Given the description of an element on the screen output the (x, y) to click on. 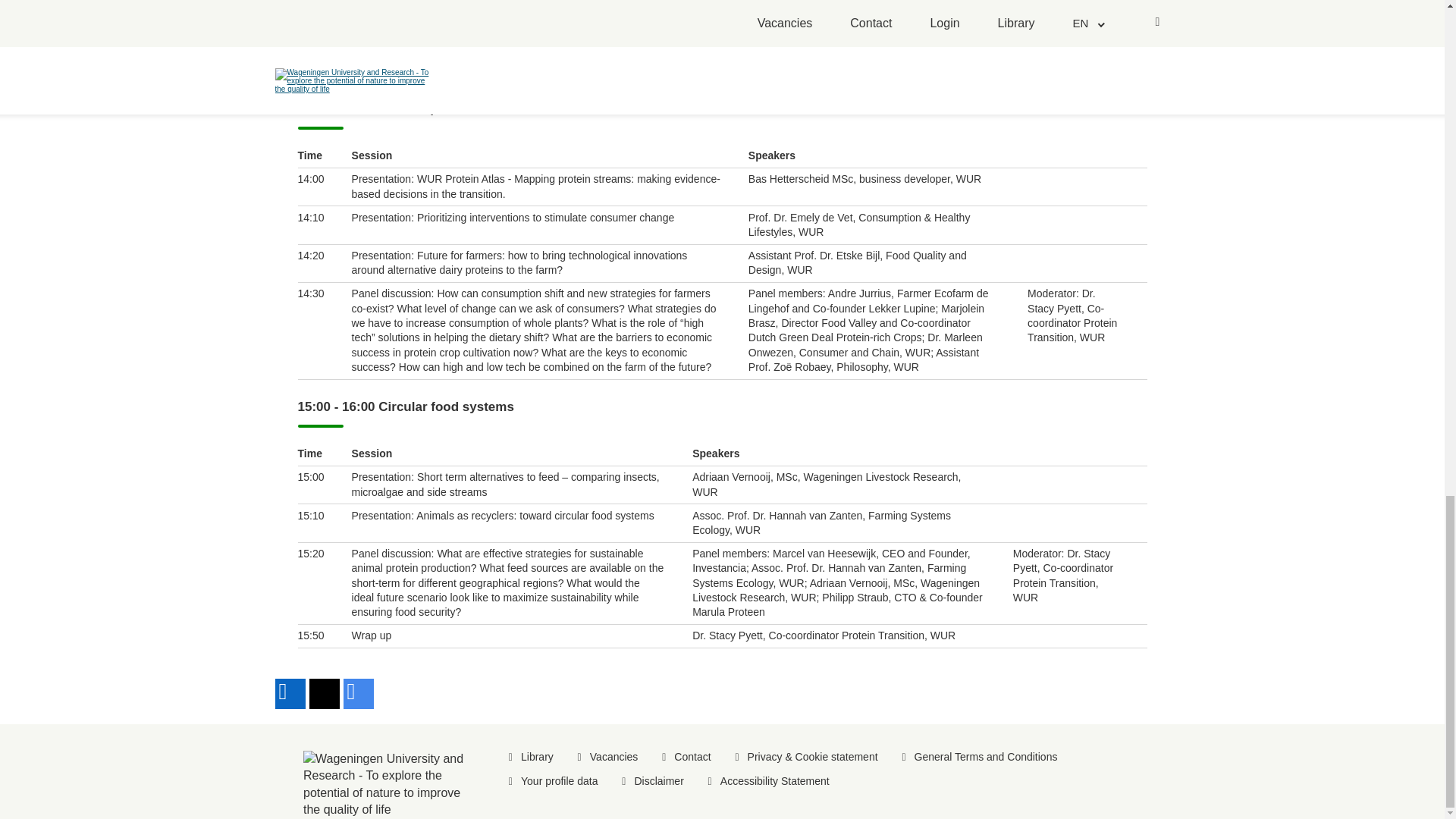
Library (537, 756)
Linkedin (289, 693)
Twitter (323, 693)
Email (357, 693)
